Given the description of an element on the screen output the (x, y) to click on. 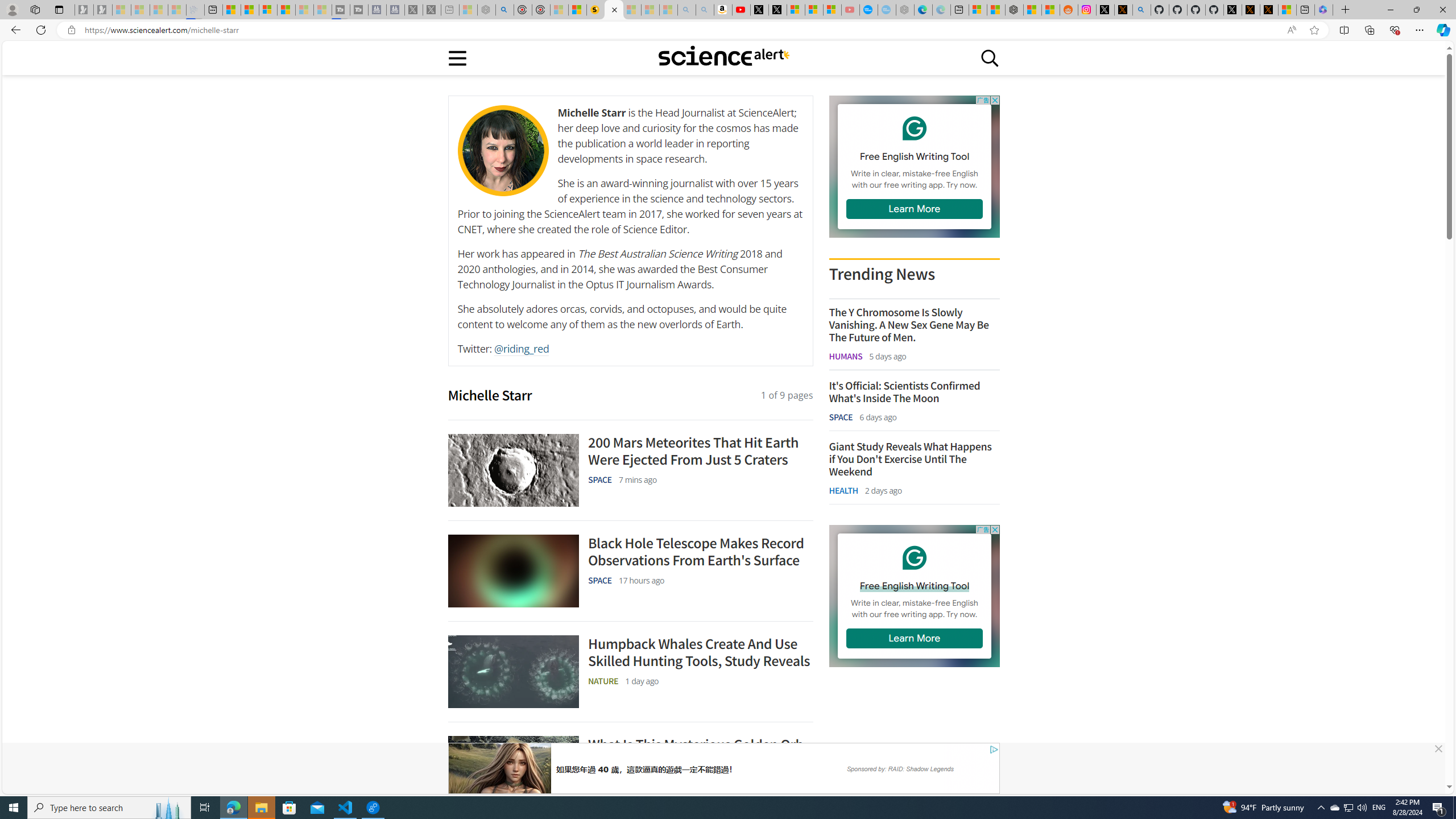
The most popular Google 'how to' searches - Sleeping (887, 9)
It's Official: Scientists Confirmed What's Inside The Moon (914, 391)
X Privacy Policy (1268, 9)
Main menu (456, 57)
Login | Microsoft 365 (1324, 9)
